Given the description of an element on the screen output the (x, y) to click on. 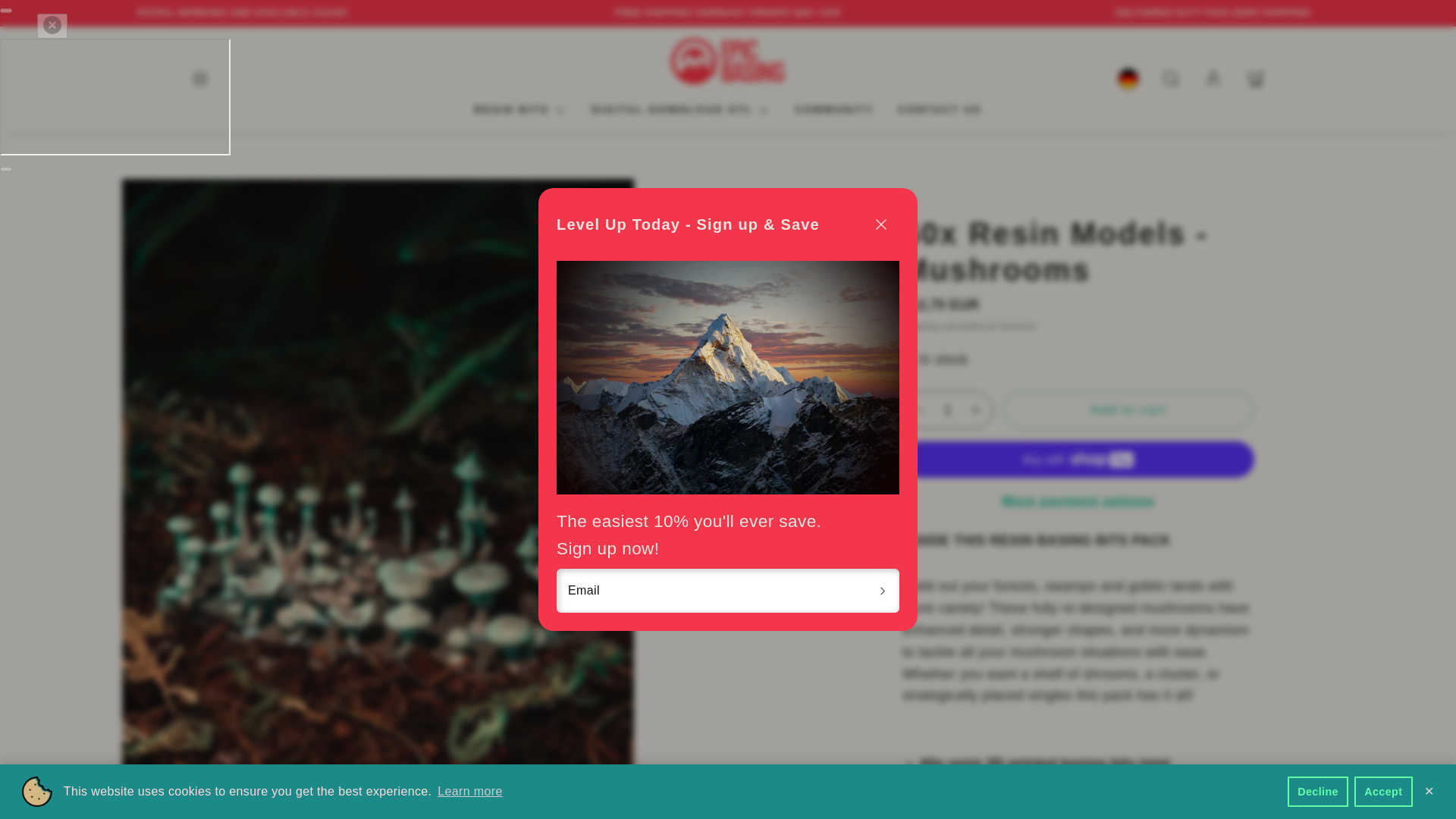
1 (947, 409)
MENU (200, 78)
Accept (1383, 791)
Learn more (470, 791)
Decline (1318, 791)
COMMUNITY (834, 110)
RESIN BITS (520, 110)
ACCOUNT (1213, 78)
CONTACT US (939, 110)
SEARCH (1171, 78)
DIGITAL DOWNLOAD STL (681, 110)
